Given the description of an element on the screen output the (x, y) to click on. 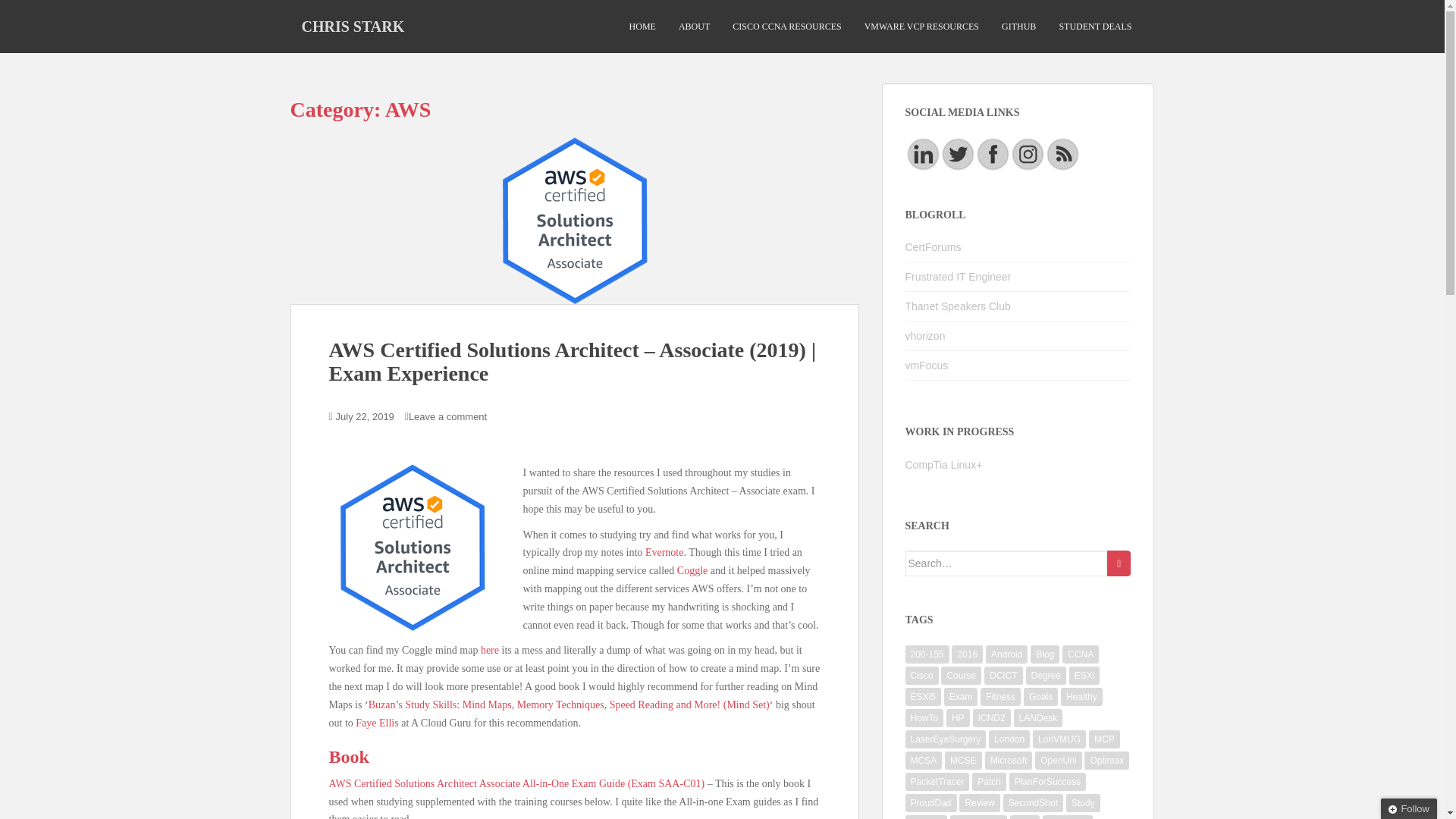
Visit Us On Twitter (957, 153)
Staring into the distanc (924, 336)
Visit Us On Instagram (1027, 153)
Course (960, 675)
CertForums (932, 246)
Cisco (922, 675)
Frustrated IT Engineer (958, 276)
VMWARE VCP RESOURCES (921, 26)
CHRIS STARK (351, 26)
Visit Us On Linkedin (922, 153)
ABOUT (694, 26)
CHRIS STARK (351, 26)
vhorizon (924, 336)
Check Our Feed (1062, 153)
